Given the description of an element on the screen output the (x, y) to click on. 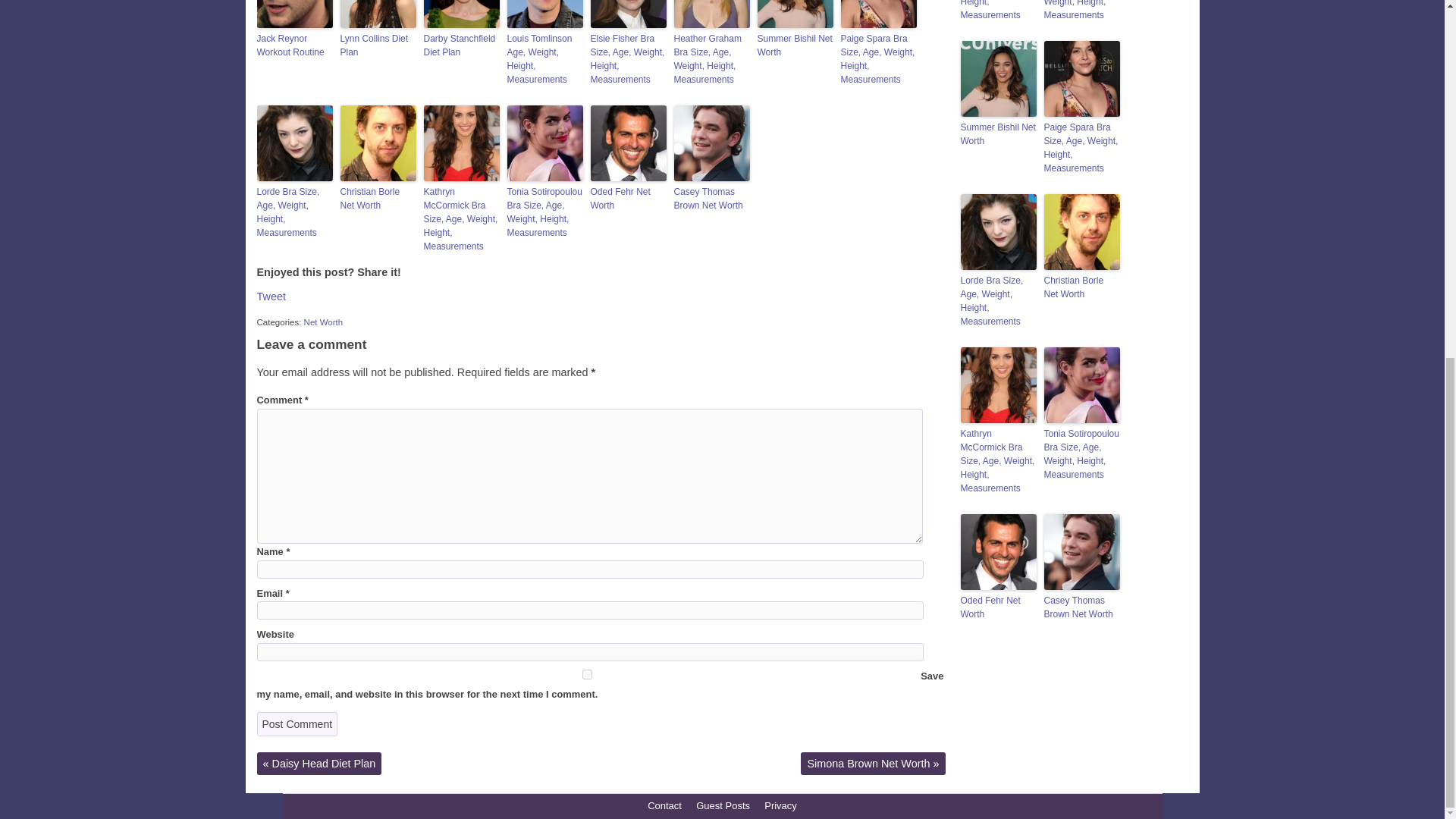
Jack Reynor Workout Routine (293, 44)
Christian Borle Net Worth (376, 198)
Lynn Collins Diet Plan (376, 44)
Summer Bishil Net Worth (794, 44)
yes (586, 674)
Louis Tomlinson Age, Weight, Height, Measurements (544, 58)
Heather Graham Bra Size, Age, Weight, Height, Measurements (710, 58)
Post Comment (296, 723)
Darby Stanchfield Diet Plan (461, 44)
Lorde Bra Size, Age, Weight, Height, Measurements (293, 212)
Elsie Fisher Bra Size, Age, Weight, Height, Measurements (627, 58)
Paige Spara Bra Size, Age, Weight, Height, Measurements (877, 58)
